Given the description of an element on the screen output the (x, y) to click on. 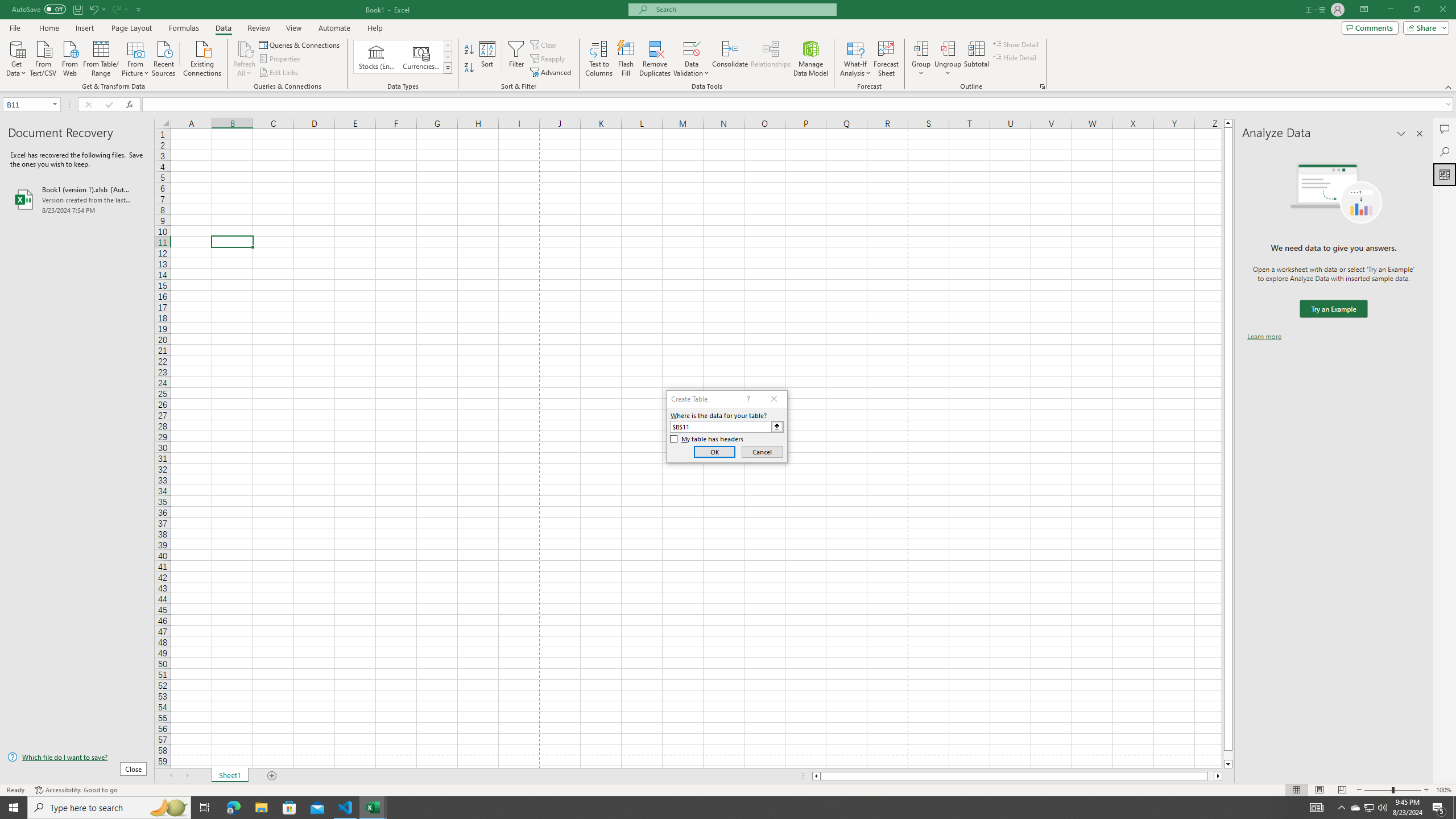
Class: MsoCommandBar (728, 45)
Manage Data Model (810, 58)
Ungroup... (947, 58)
Edit Links (279, 72)
Filter (515, 58)
Automate (334, 28)
Class: NetUIImage (447, 68)
Sort Z to A (469, 67)
Flash Fill (625, 58)
Recent Sources (163, 57)
Page Layout (131, 28)
Zoom In (1426, 790)
Group... (921, 58)
Insert (83, 28)
Sheet1 (229, 775)
